Given the description of an element on the screen output the (x, y) to click on. 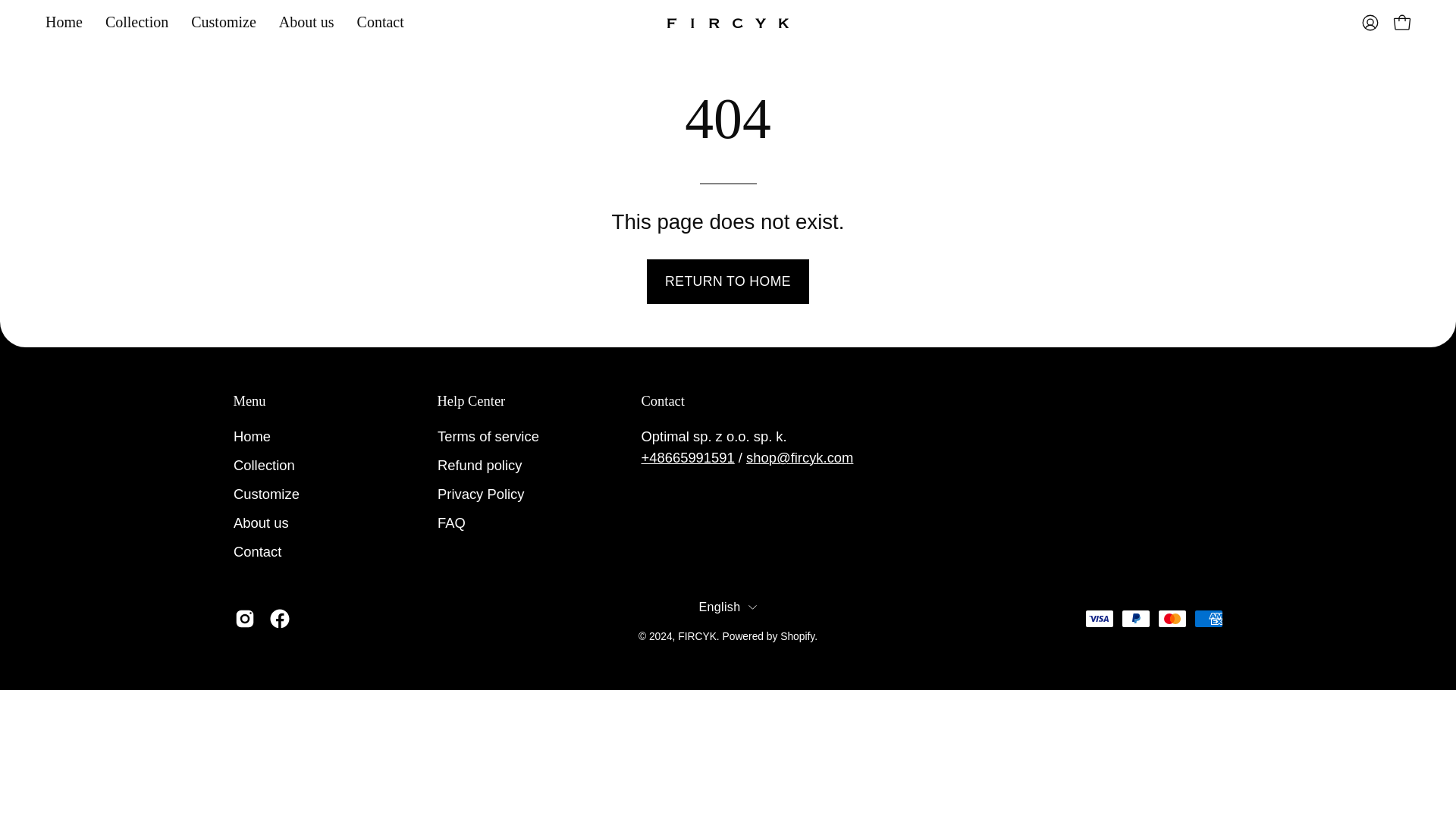
RETURN TO HOME (727, 281)
Customize (265, 493)
Customize (223, 22)
Collection (136, 22)
About us (306, 22)
Home (251, 436)
Menu (249, 401)
Home (63, 22)
Collection (263, 465)
View FIRCYK on Facebook (279, 618)
